Given the description of an element on the screen output the (x, y) to click on. 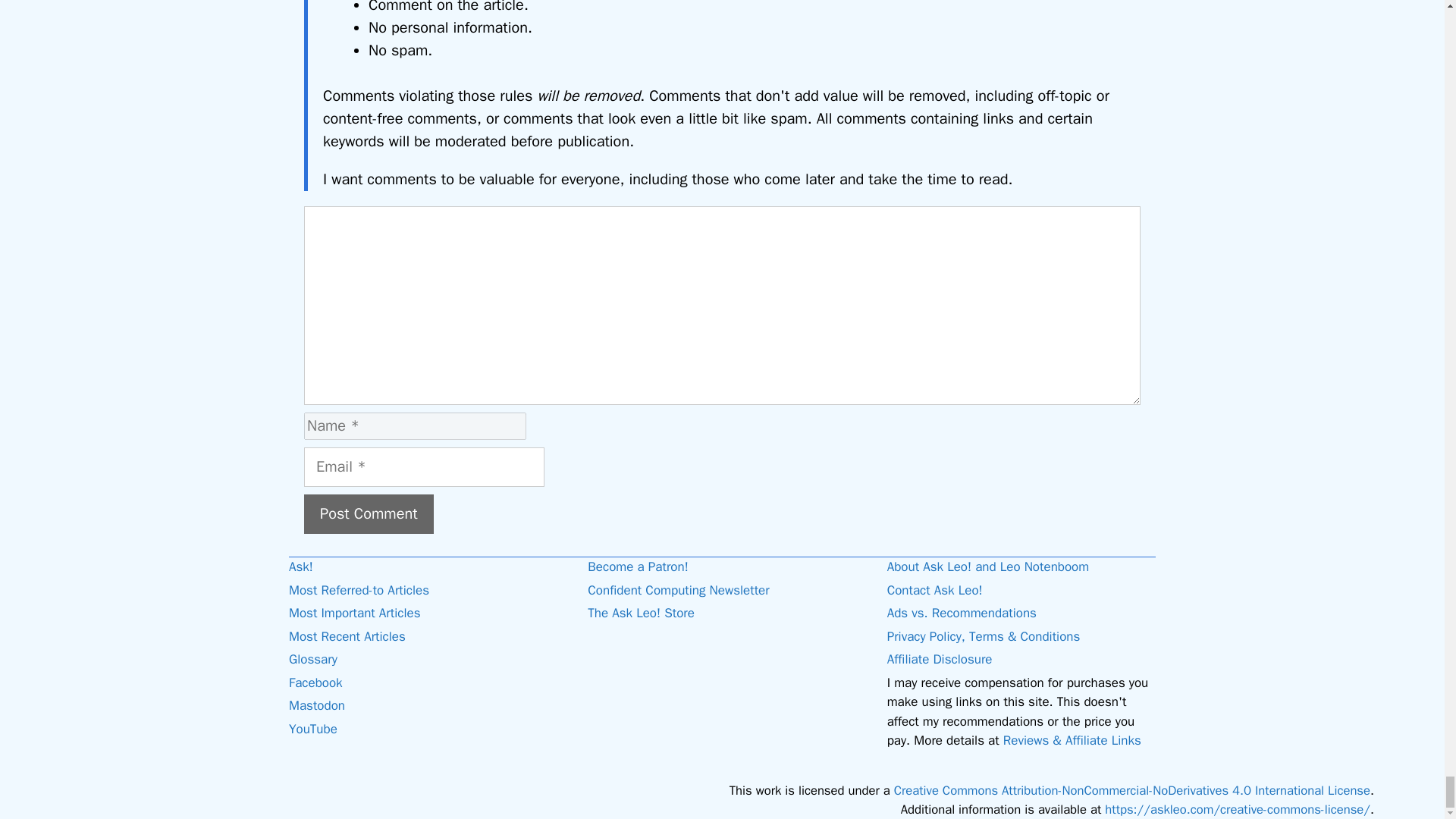
Post Comment (368, 513)
